Given the description of an element on the screen output the (x, y) to click on. 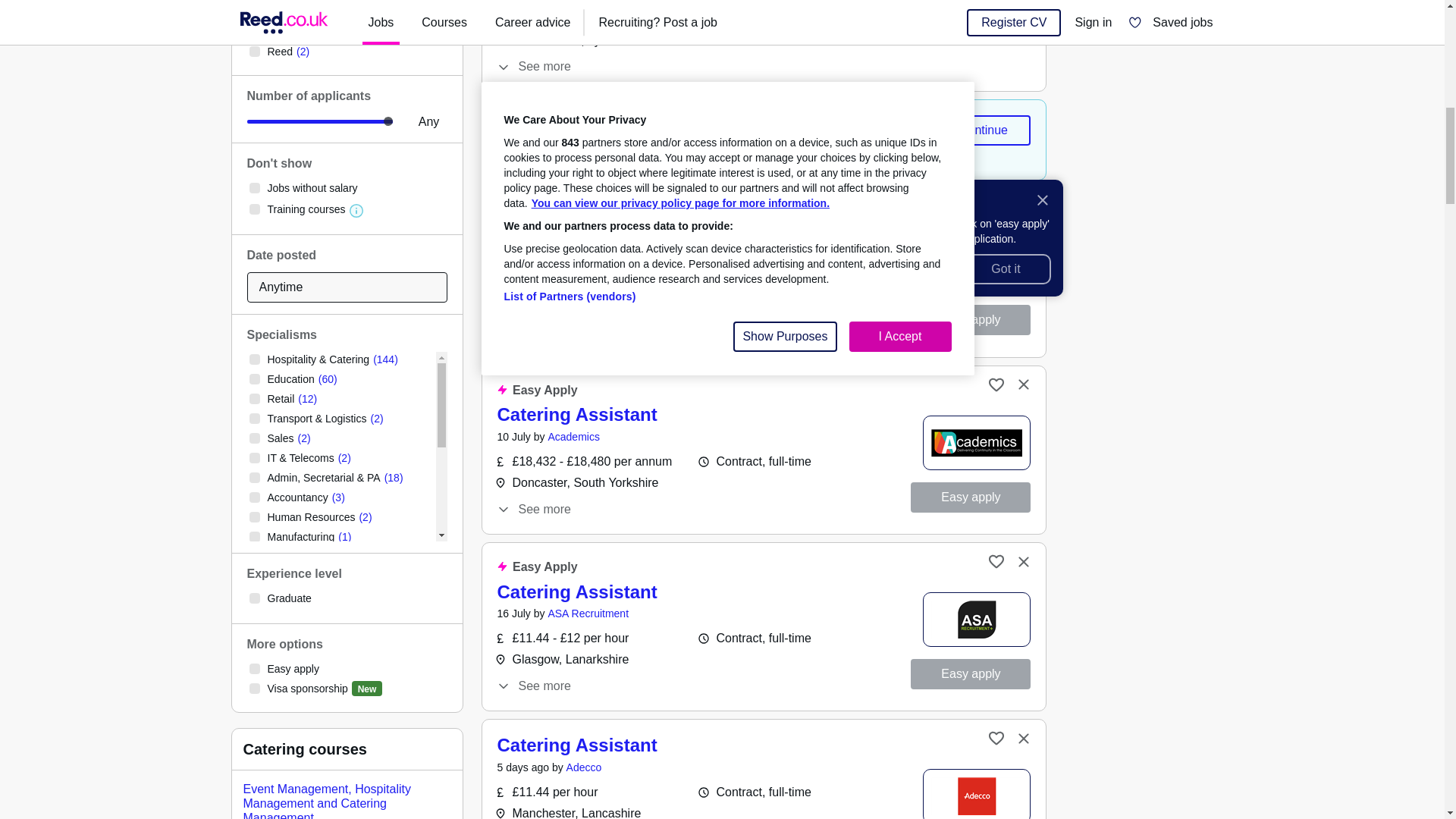
on (253, 358)
on (253, 11)
on (253, 378)
2 (320, 122)
on (253, 457)
on (253, 187)
on (253, 398)
on (253, 208)
on (253, 418)
on (253, 31)
